Given the description of an element on the screen output the (x, y) to click on. 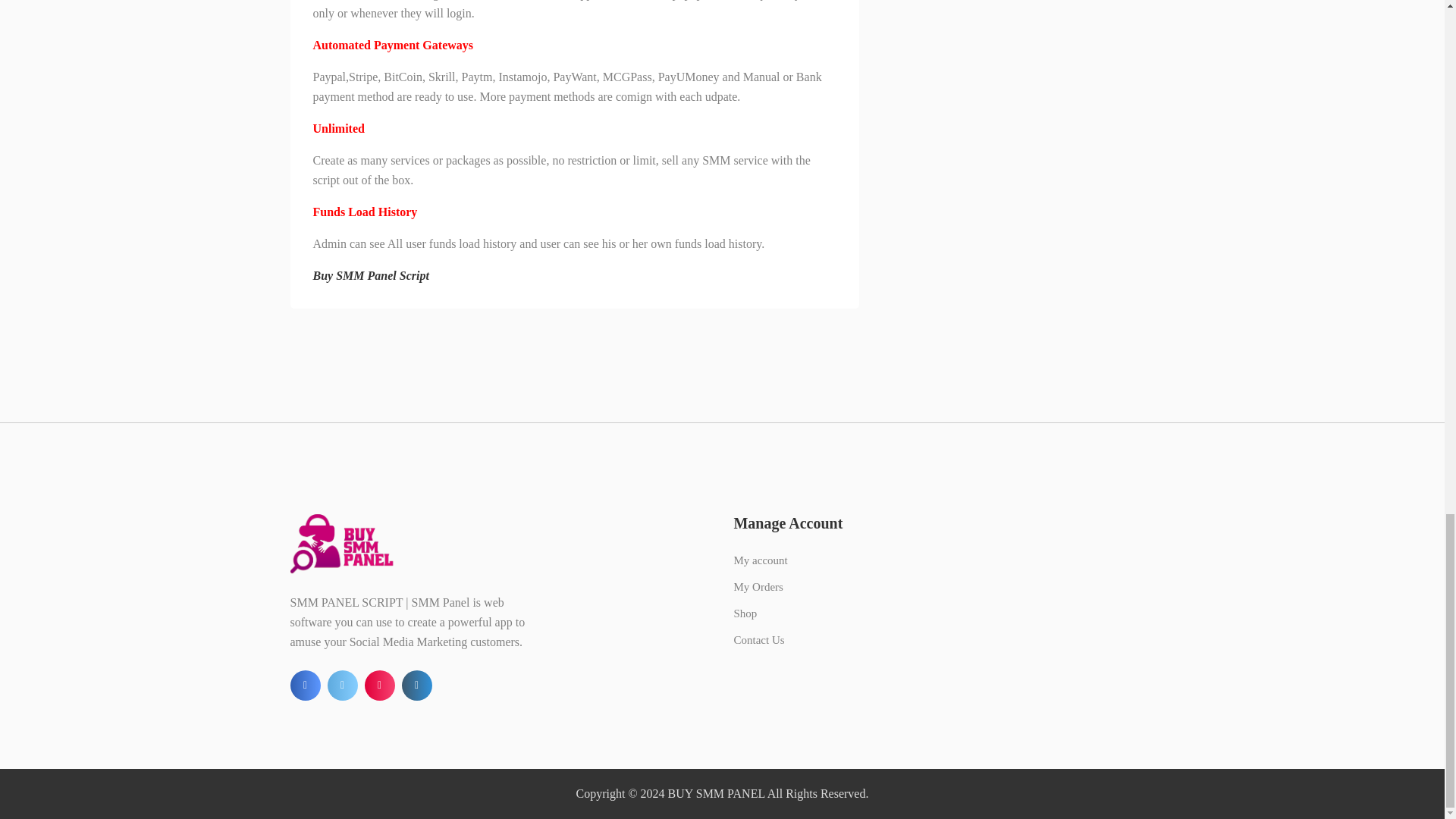
My Orders (758, 586)
My account (760, 560)
Contact Us (758, 639)
Shop (745, 613)
